Given the description of an element on the screen output the (x, y) to click on. 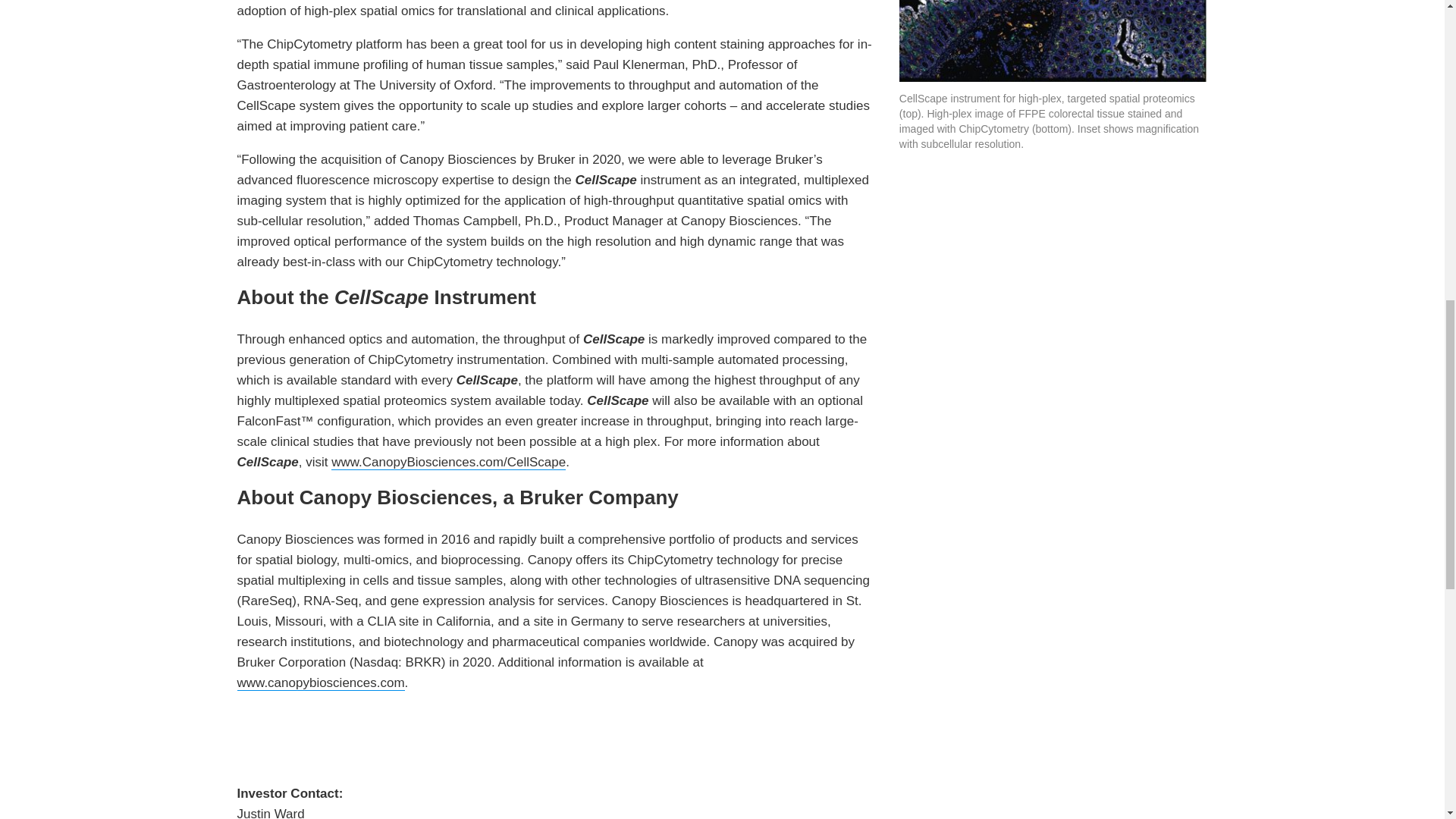
www.canopybiosciences.com (319, 683)
